Given the description of an element on the screen output the (x, y) to click on. 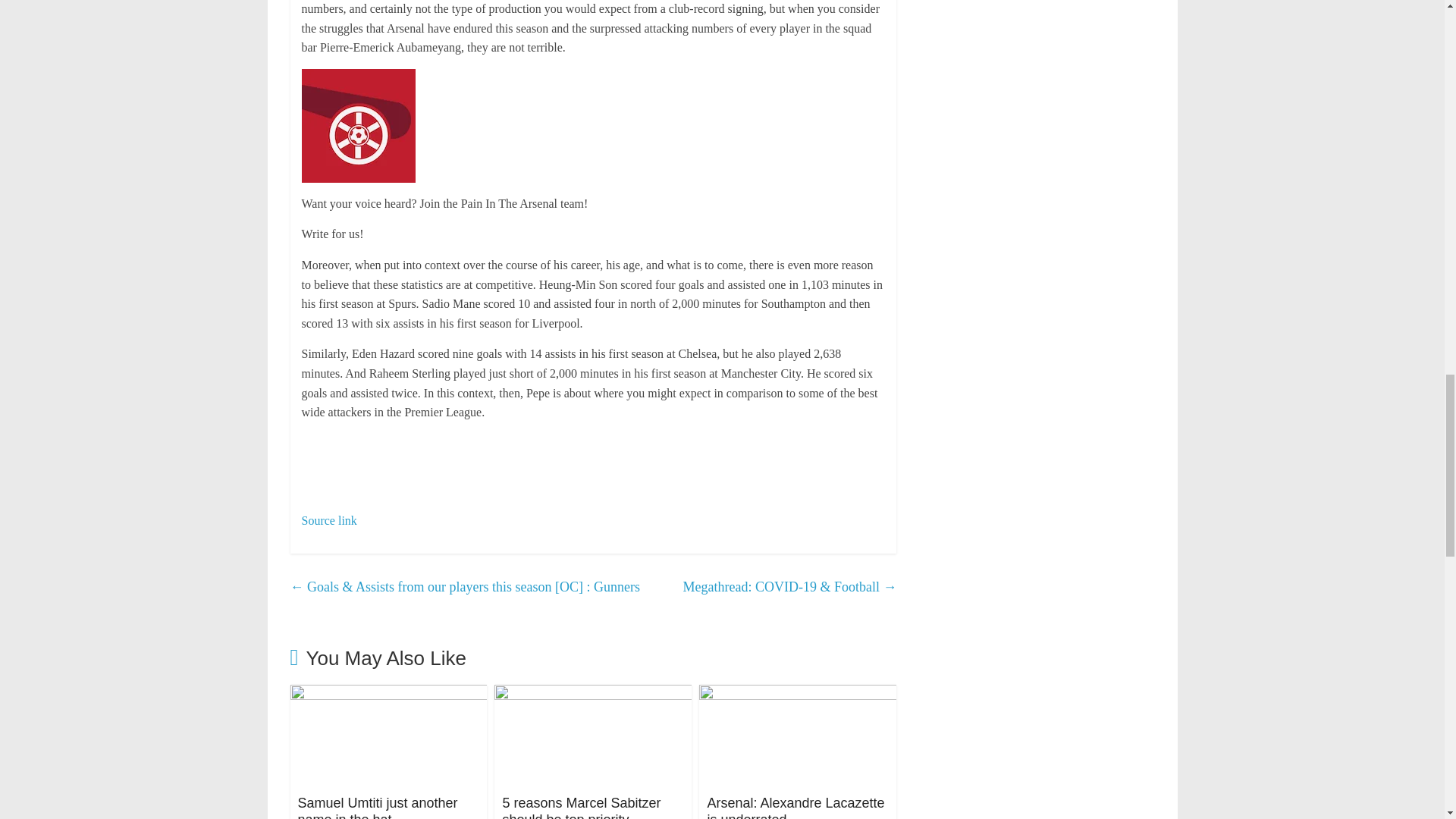
Samuel Umtiti just another name in the hat (377, 807)
Samuel Umtiti just another name in the hat (387, 694)
5 reasons Marcel Sabitzer should be top priority (593, 694)
Samuel Umtiti just another name in the hat (377, 807)
5 reasons Marcel Sabitzer should be top priority (581, 807)
5 reasons Marcel Sabitzer should be top priority (581, 807)
Arsenal: Alexandre Lacazette is underrated (794, 807)
Source link (328, 520)
